Given the description of an element on the screen output the (x, y) to click on. 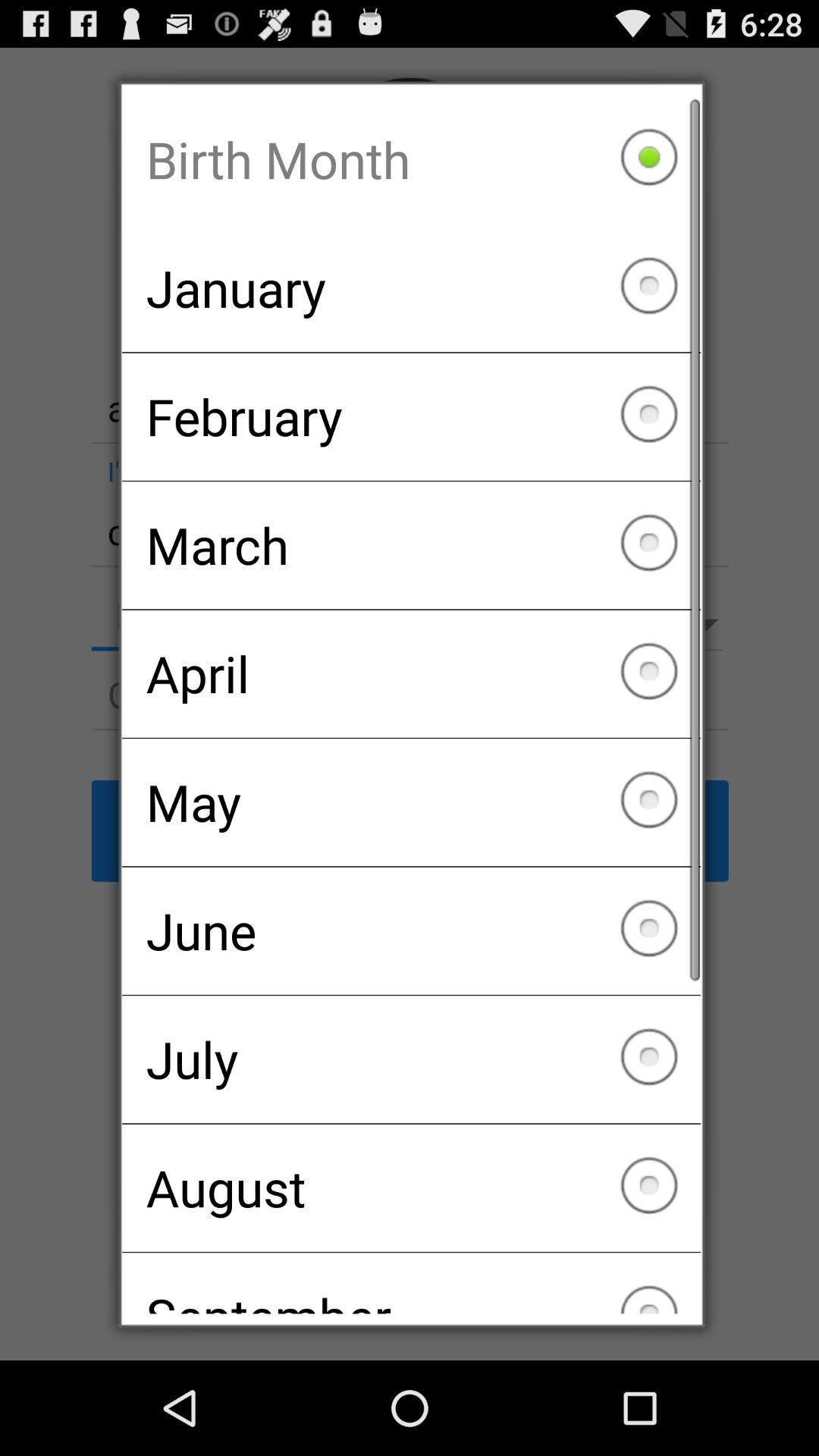
click april (411, 673)
